Given the description of an element on the screen output the (x, y) to click on. 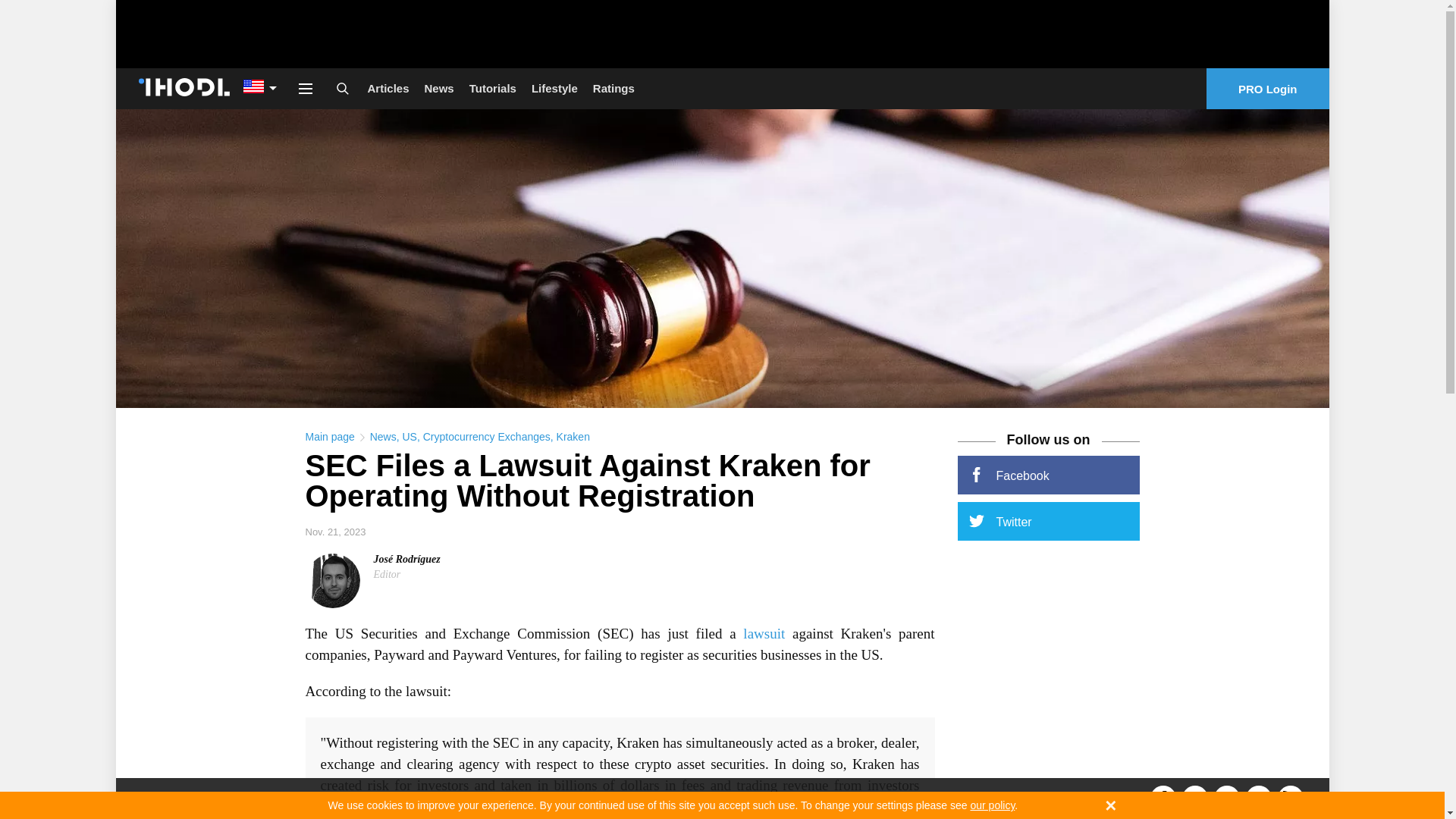
our policy (991, 805)
Ratings (613, 87)
PRO Login (1268, 87)
Lifestyle (554, 87)
News (438, 87)
Articles (387, 87)
Kraken (572, 436)
Editor (386, 573)
Main page (328, 436)
lawsuit (763, 633)
Tutorials (492, 87)
US (408, 436)
News (382, 436)
Cryptocurrency Exchanges (486, 436)
3rd party ad content (721, 33)
